Given the description of an element on the screen output the (x, y) to click on. 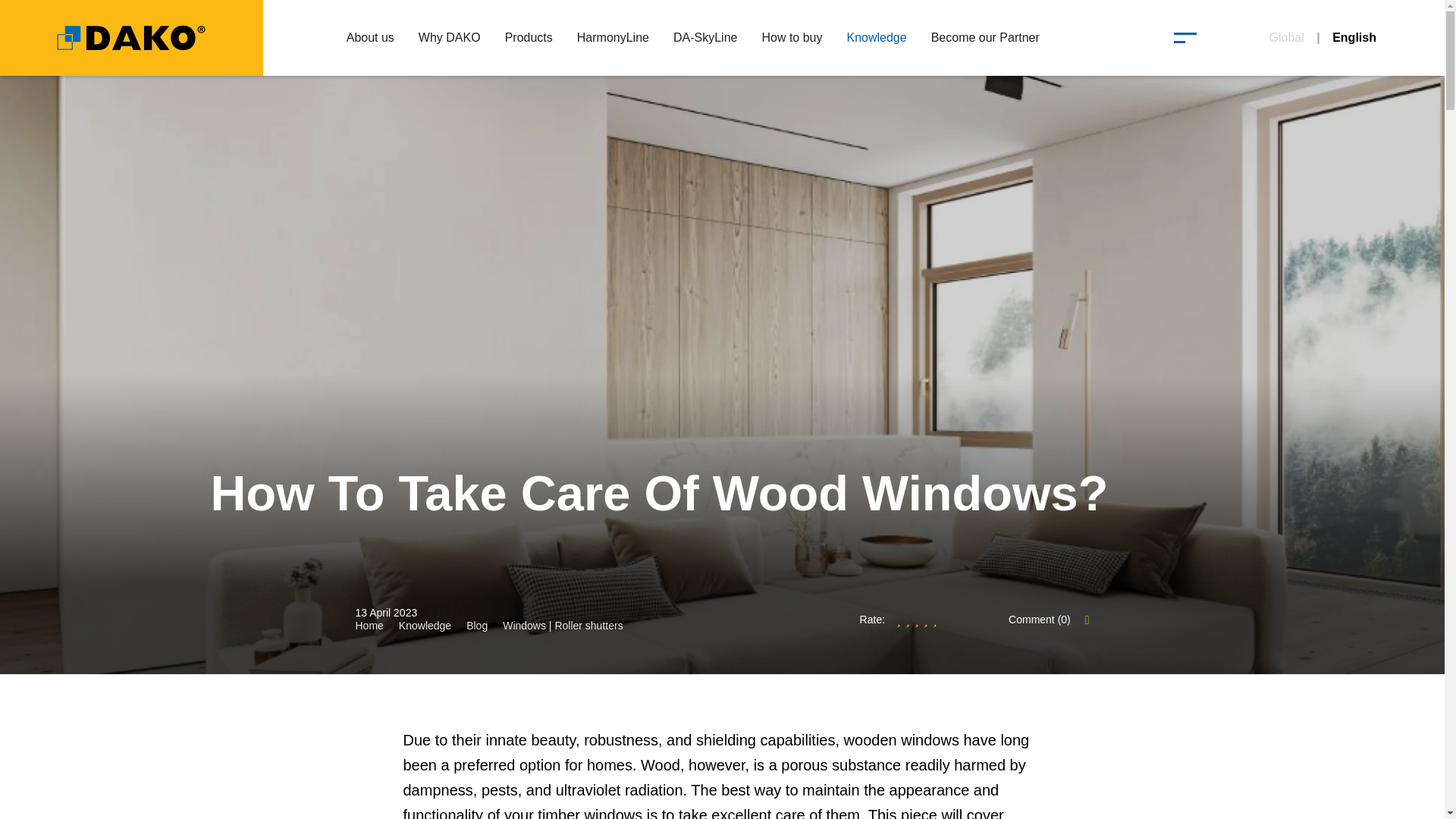
good (925, 619)
DA-SkyLine (705, 37)
Global (1286, 37)
Knowledge (876, 37)
poor (907, 619)
How to buy (791, 37)
Become our Partner (984, 37)
gorgeous (935, 619)
regular (916, 619)
About us (370, 37)
bad (898, 619)
Why DAKO (449, 37)
Products (528, 37)
HarmonyLine (612, 37)
